Given the description of an element on the screen output the (x, y) to click on. 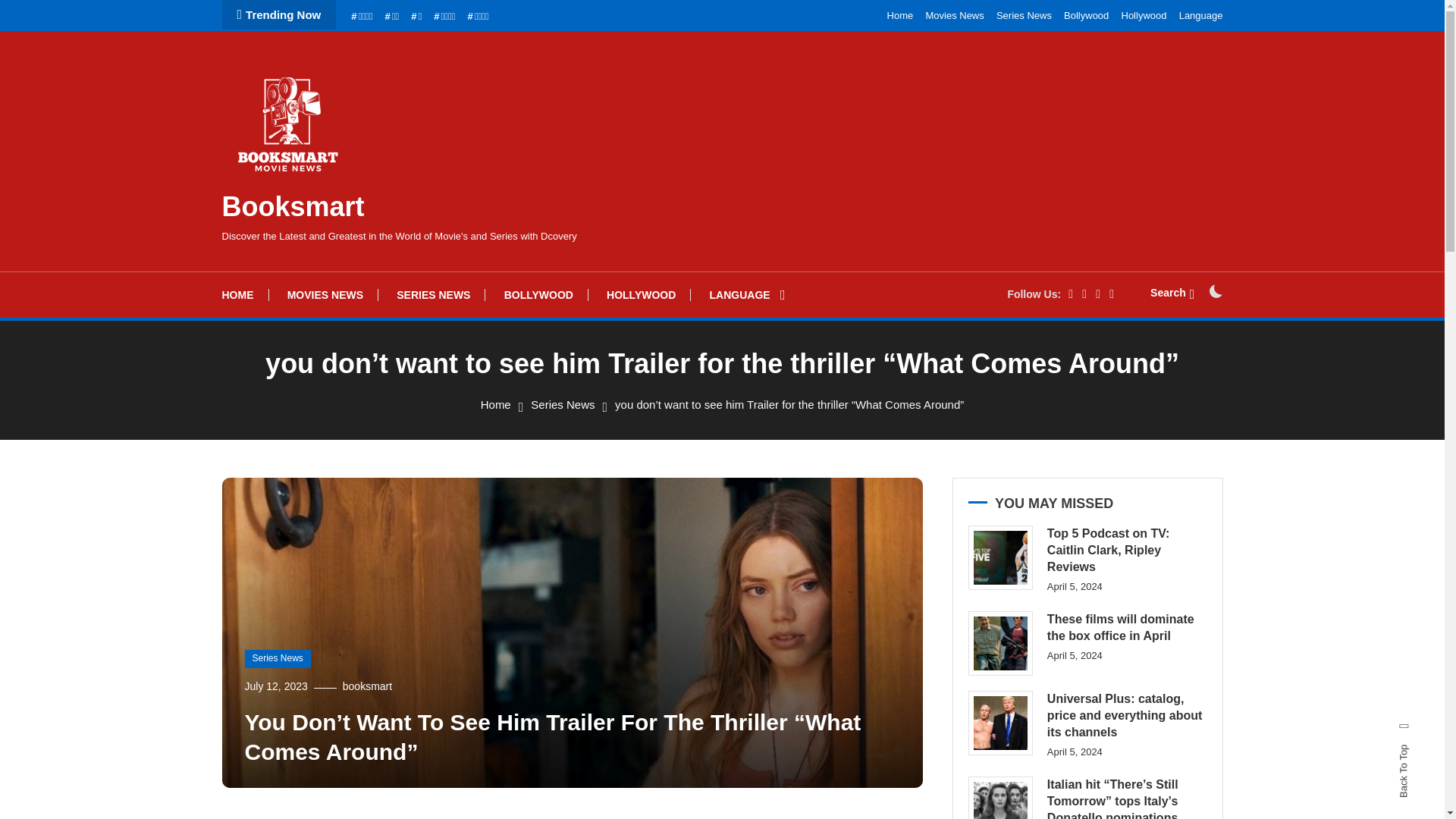
These films will dominate the box office in April (1000, 642)
Series News (1023, 15)
Search (1171, 292)
LANGUAGE (747, 294)
Bollywood (1086, 15)
Booksmart (292, 205)
Hollywood (1143, 15)
Movies News (954, 15)
Search (768, 434)
HOLLYWOOD (640, 294)
SERIES NEWS (432, 294)
on (1215, 291)
MOVIES NEWS (325, 294)
Top 5 Podcast on TV: Caitlin Clark, Ripley Reviews (1000, 557)
